Given the description of an element on the screen output the (x, y) to click on. 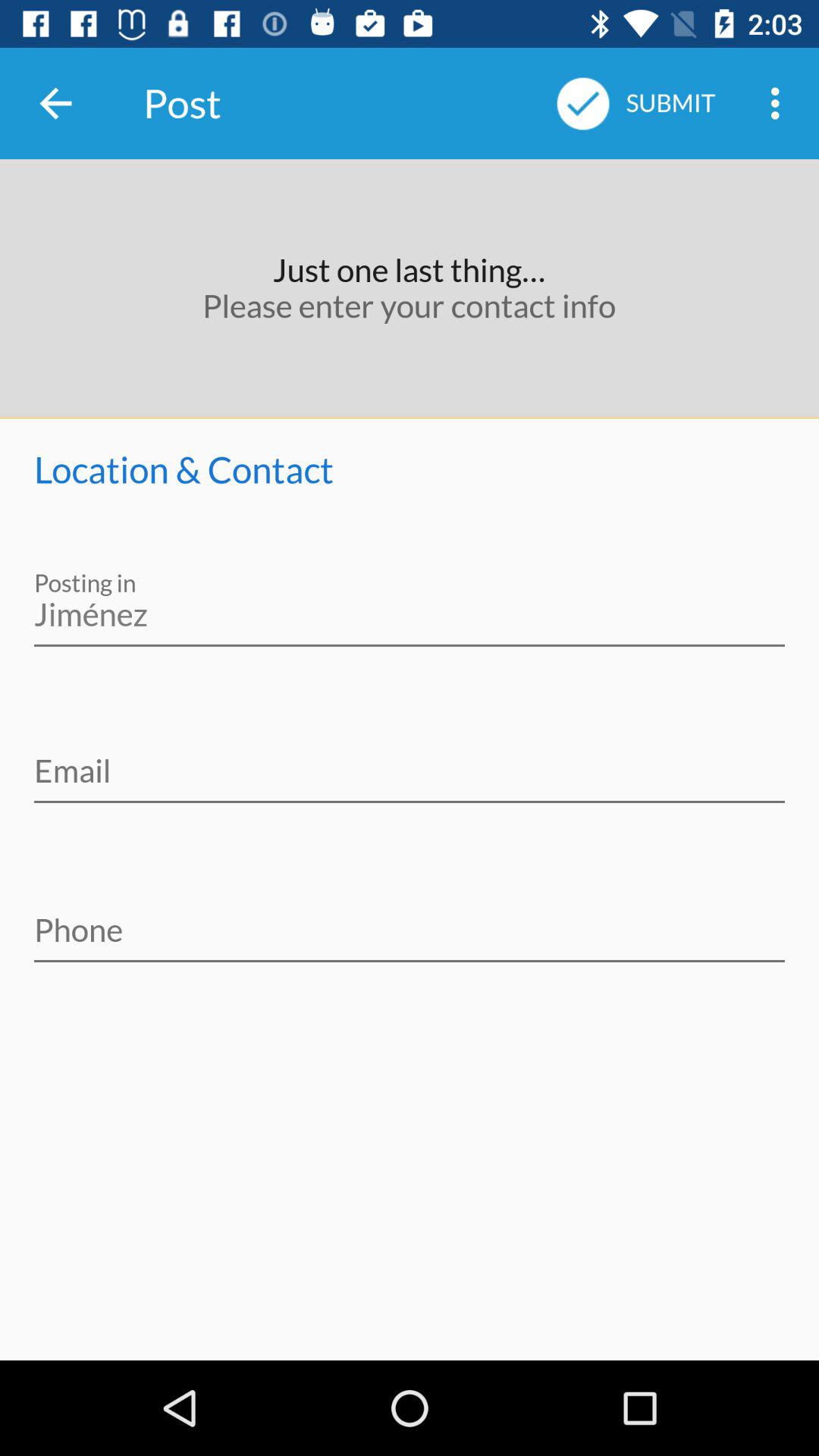
go to phone number (409, 919)
